Given the description of an element on the screen output the (x, y) to click on. 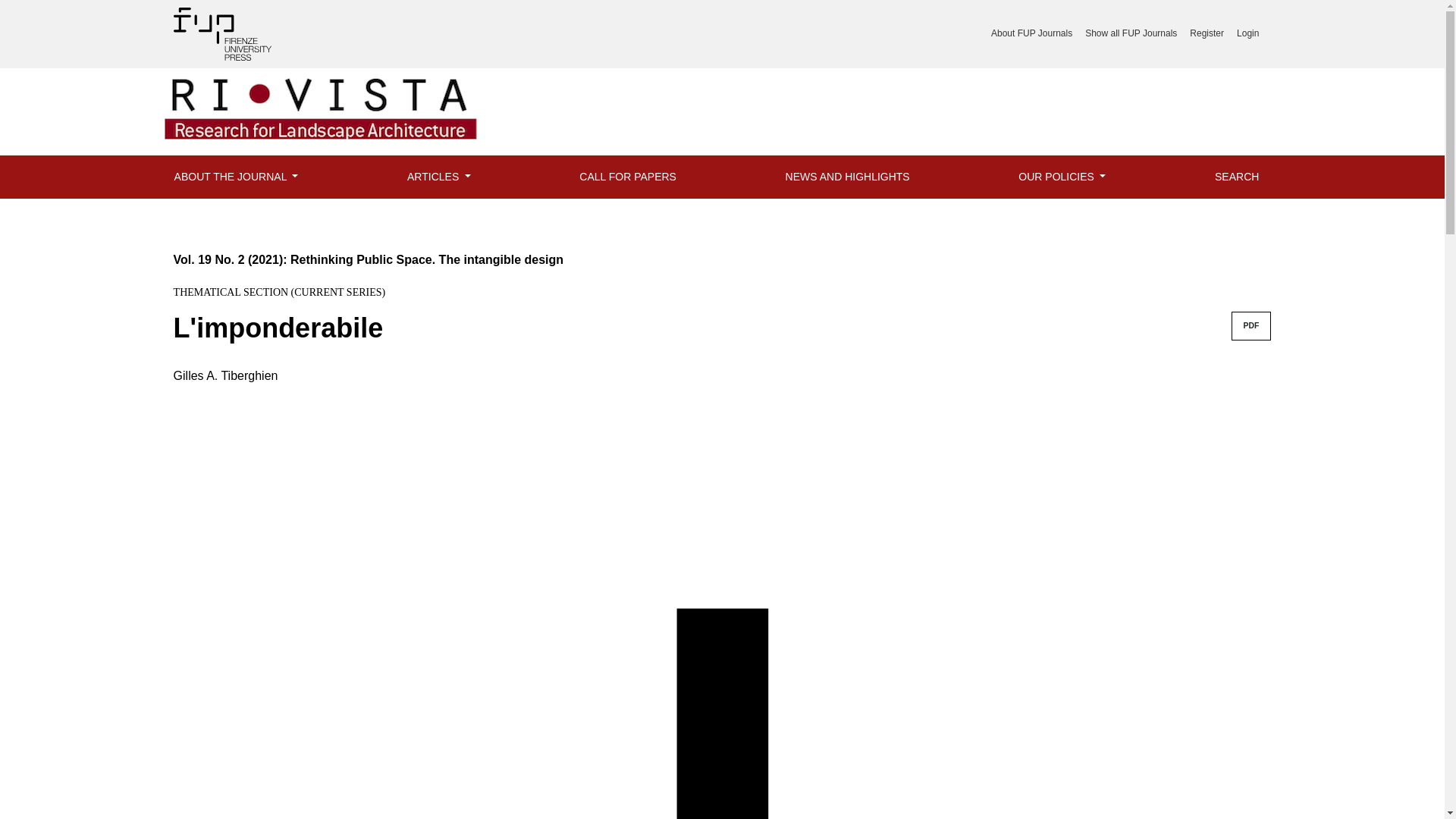
NEWS AND HIGHLIGHTS (847, 177)
SEARCH (1236, 177)
About FUP Journals (1031, 33)
Register (1206, 33)
CALL FOR PAPERS (627, 177)
PDF (1251, 326)
Login (1247, 33)
OUR POLICIES (1062, 177)
Show all FUP Journals (1131, 33)
ABOUT THE JOURNAL (236, 177)
ARTICLES (438, 177)
